Given the description of an element on the screen output the (x, y) to click on. 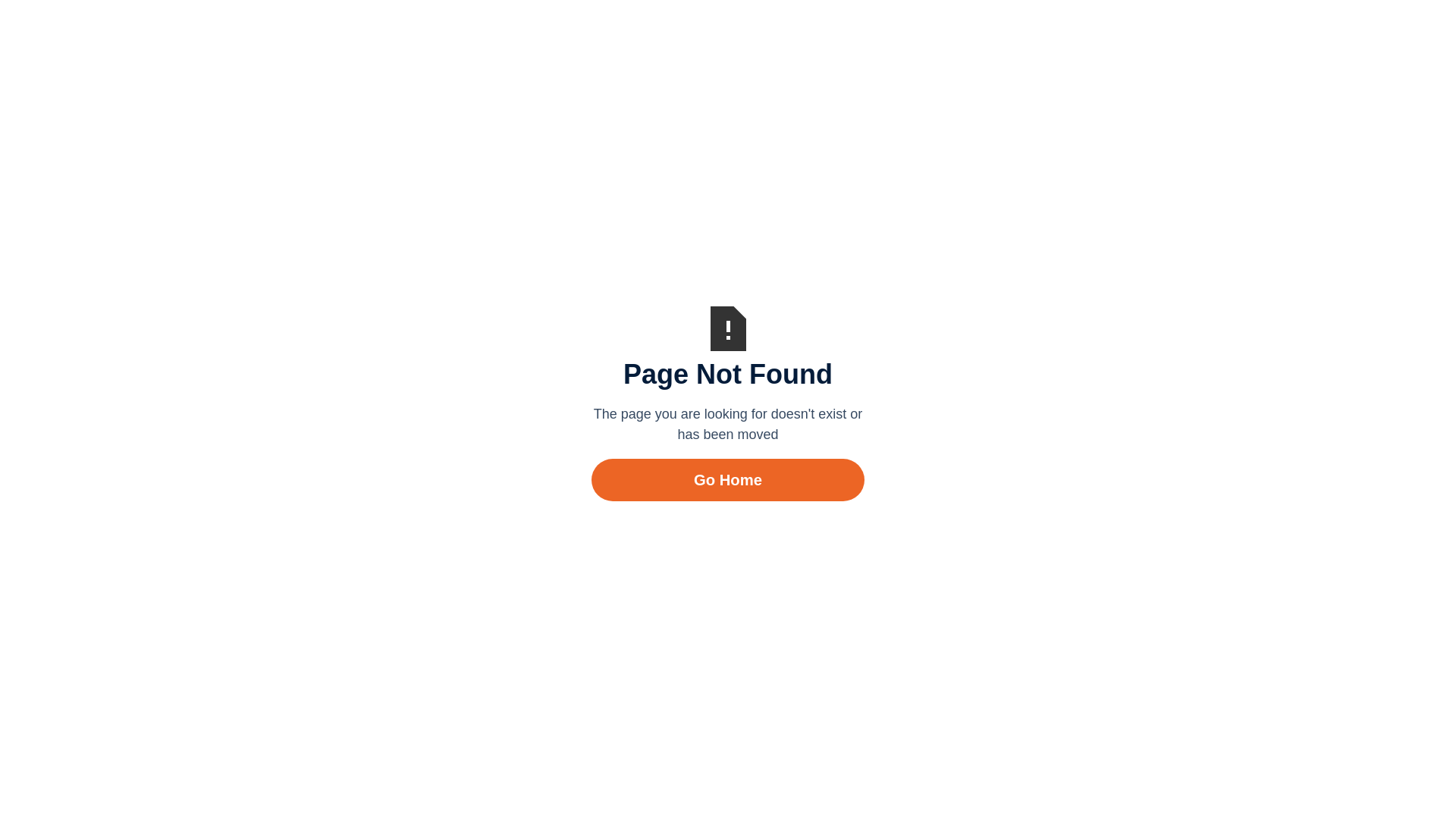
Go Home Element type: text (727, 479)
